Given the description of an element on the screen output the (x, y) to click on. 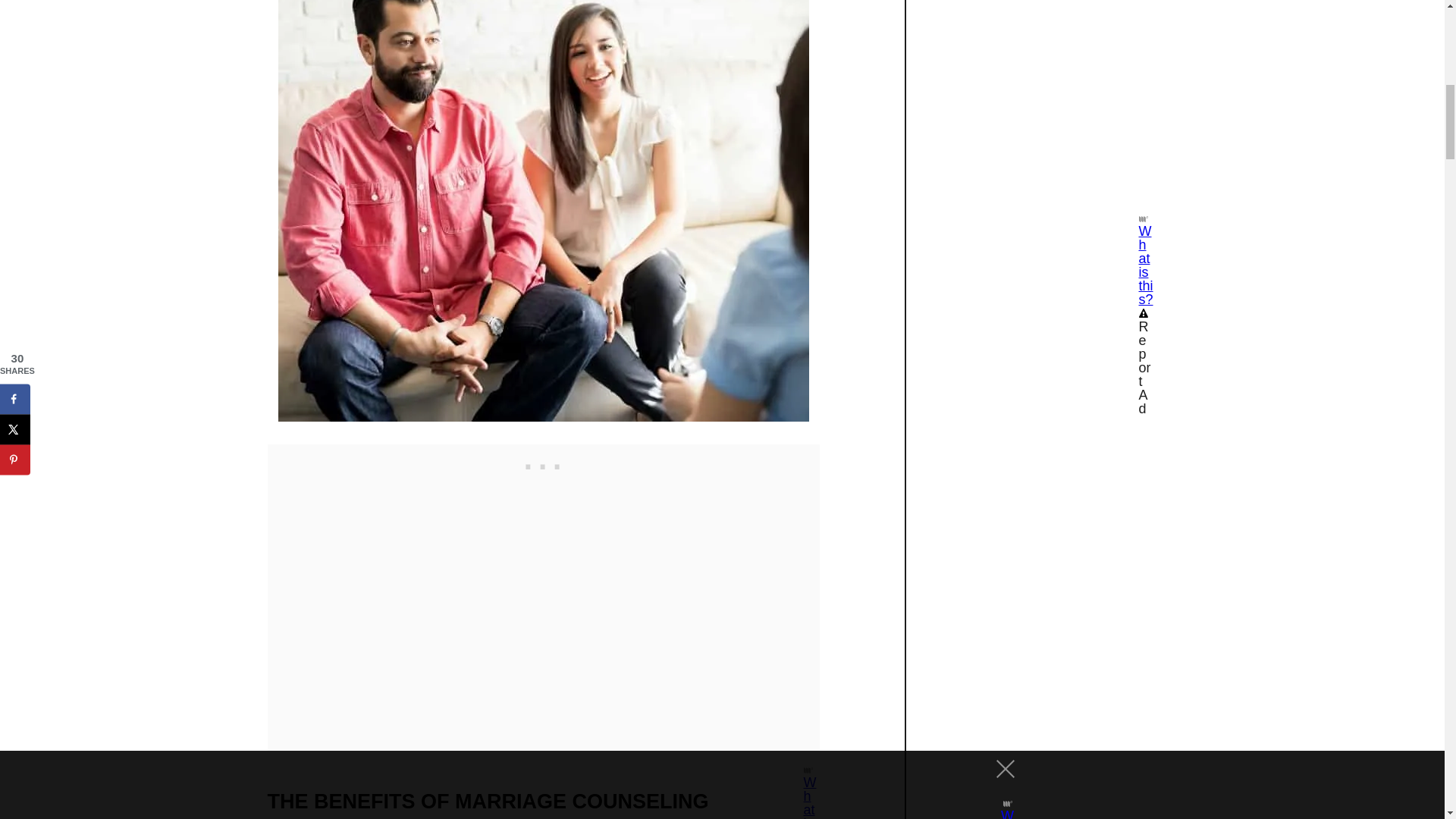
3rd party ad content (542, 463)
